Given the description of an element on the screen output the (x, y) to click on. 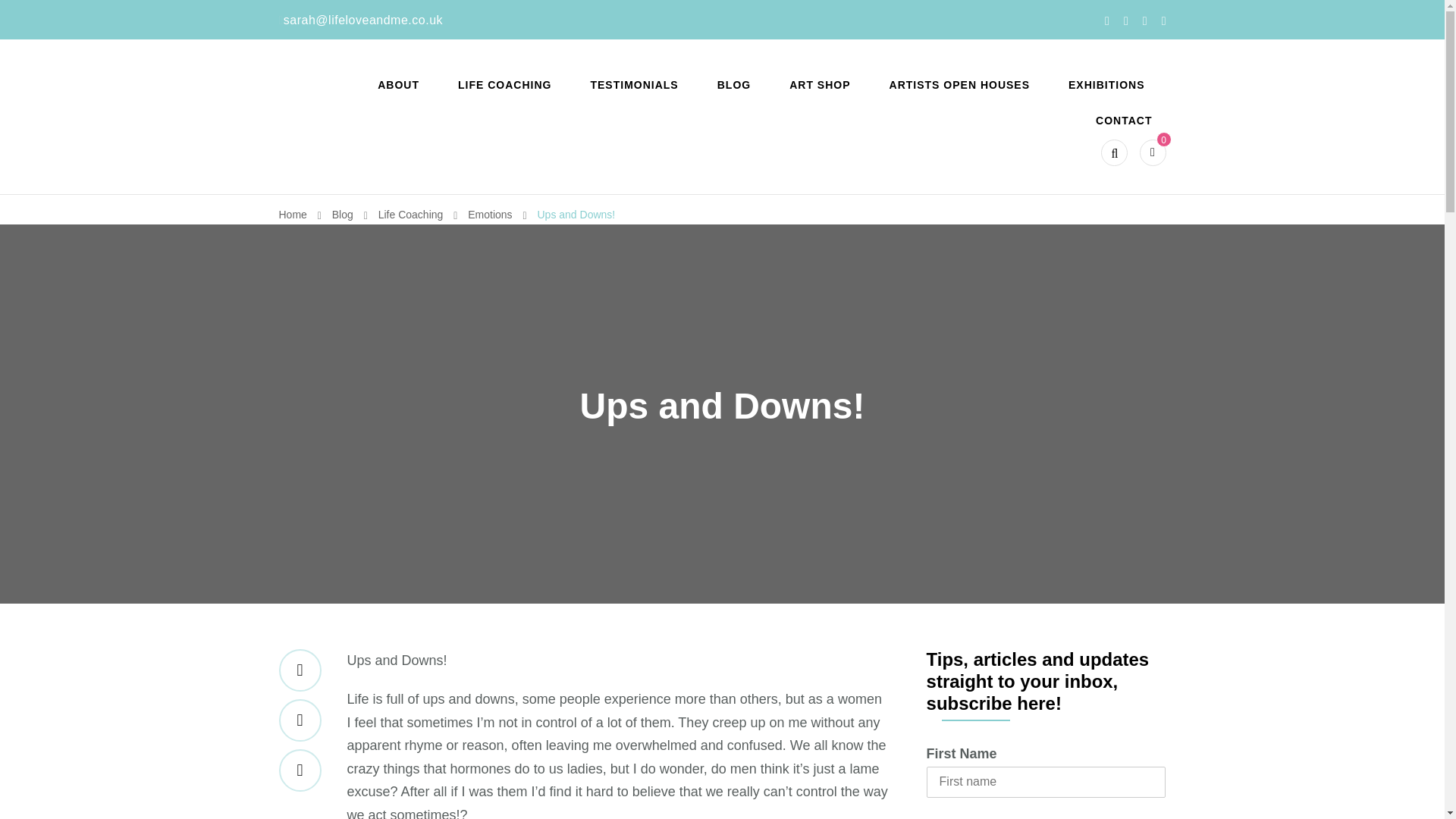
Ups and Downs! (575, 214)
LIFE COACHING (504, 85)
Life Coaching (412, 214)
0 (1153, 151)
BLOG (733, 85)
ART SHOP (819, 85)
TESTIMONIALS (633, 85)
EXHIBITIONS (1105, 85)
CONTACT (1123, 121)
ARTISTS OPEN HOUSES (959, 85)
